Given the description of an element on the screen output the (x, y) to click on. 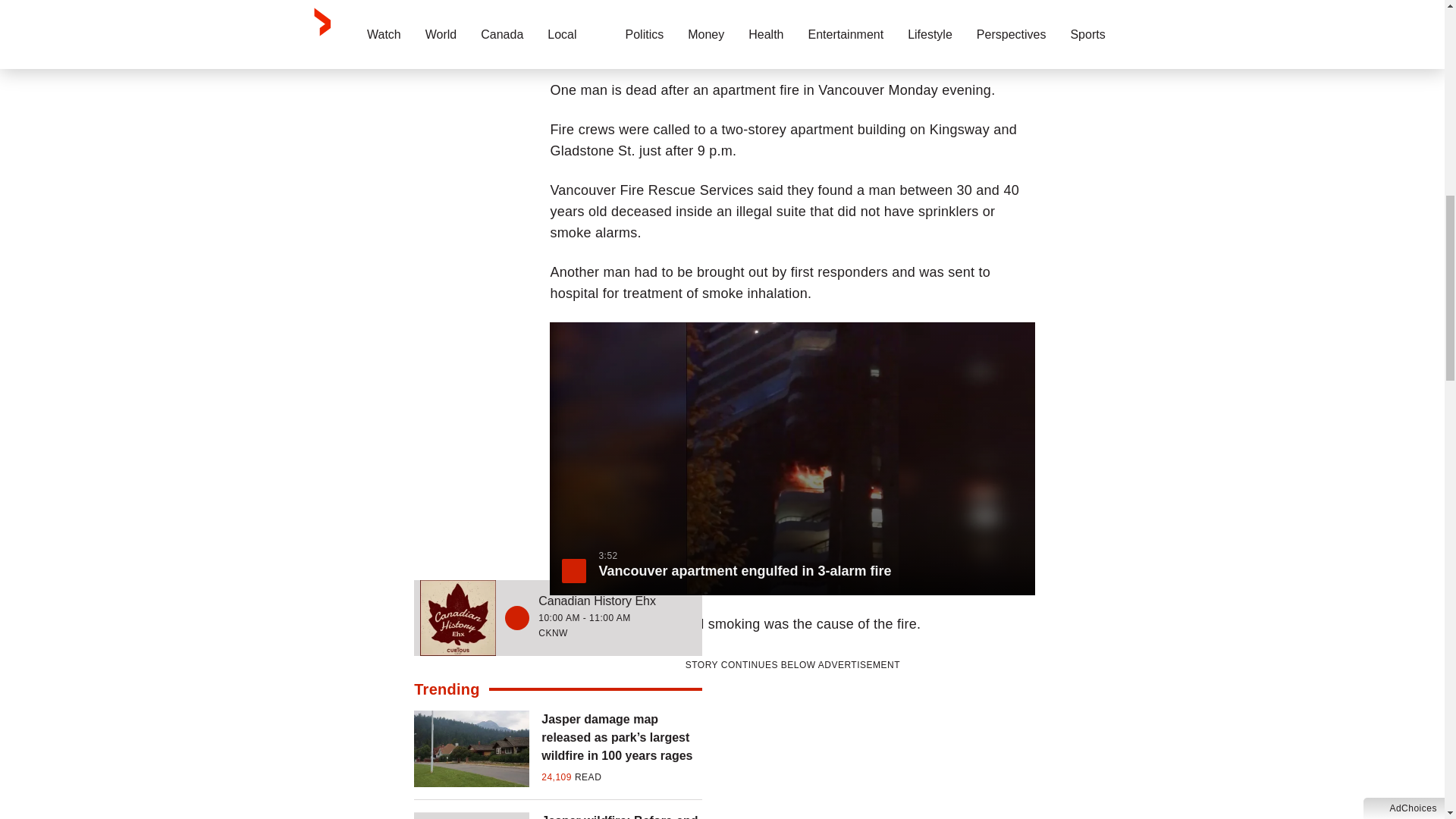
3rd party ad content (791, 746)
